Given the description of an element on the screen output the (x, y) to click on. 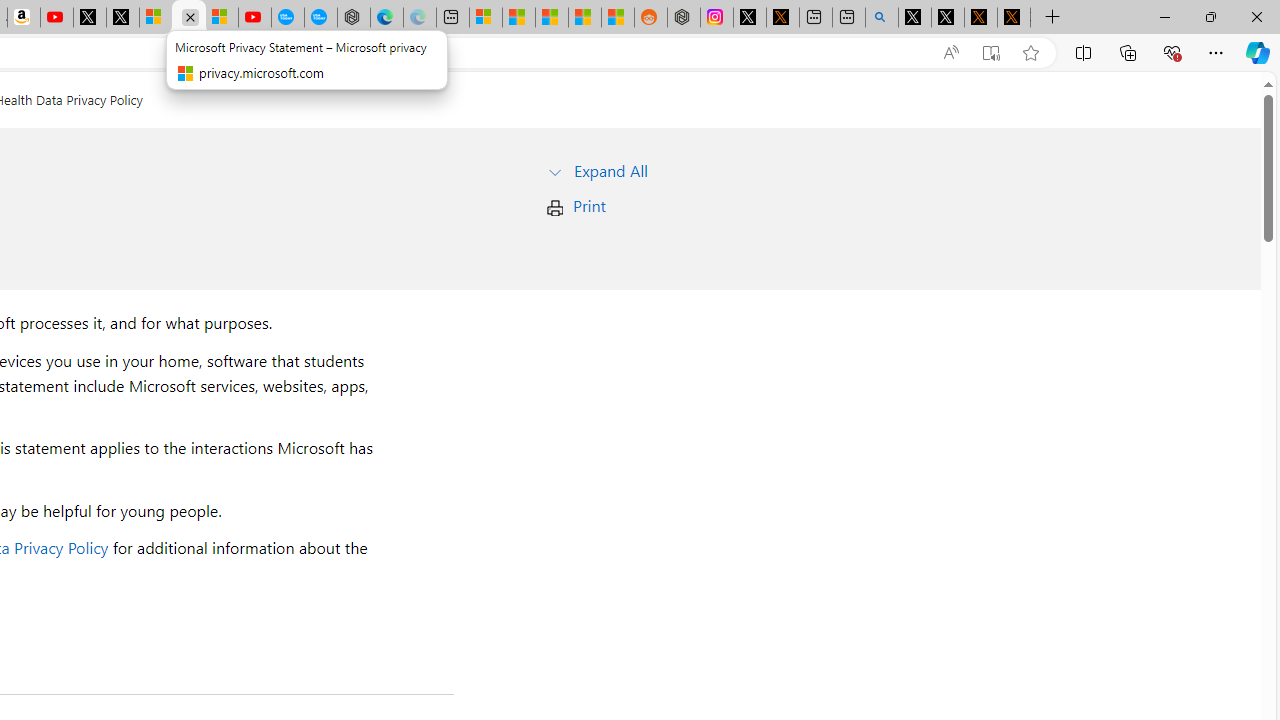
Profile / X (914, 17)
Enter Immersive Reader (F9) (991, 53)
GitHub (@github) / X (947, 17)
